Given the description of an element on the screen output the (x, y) to click on. 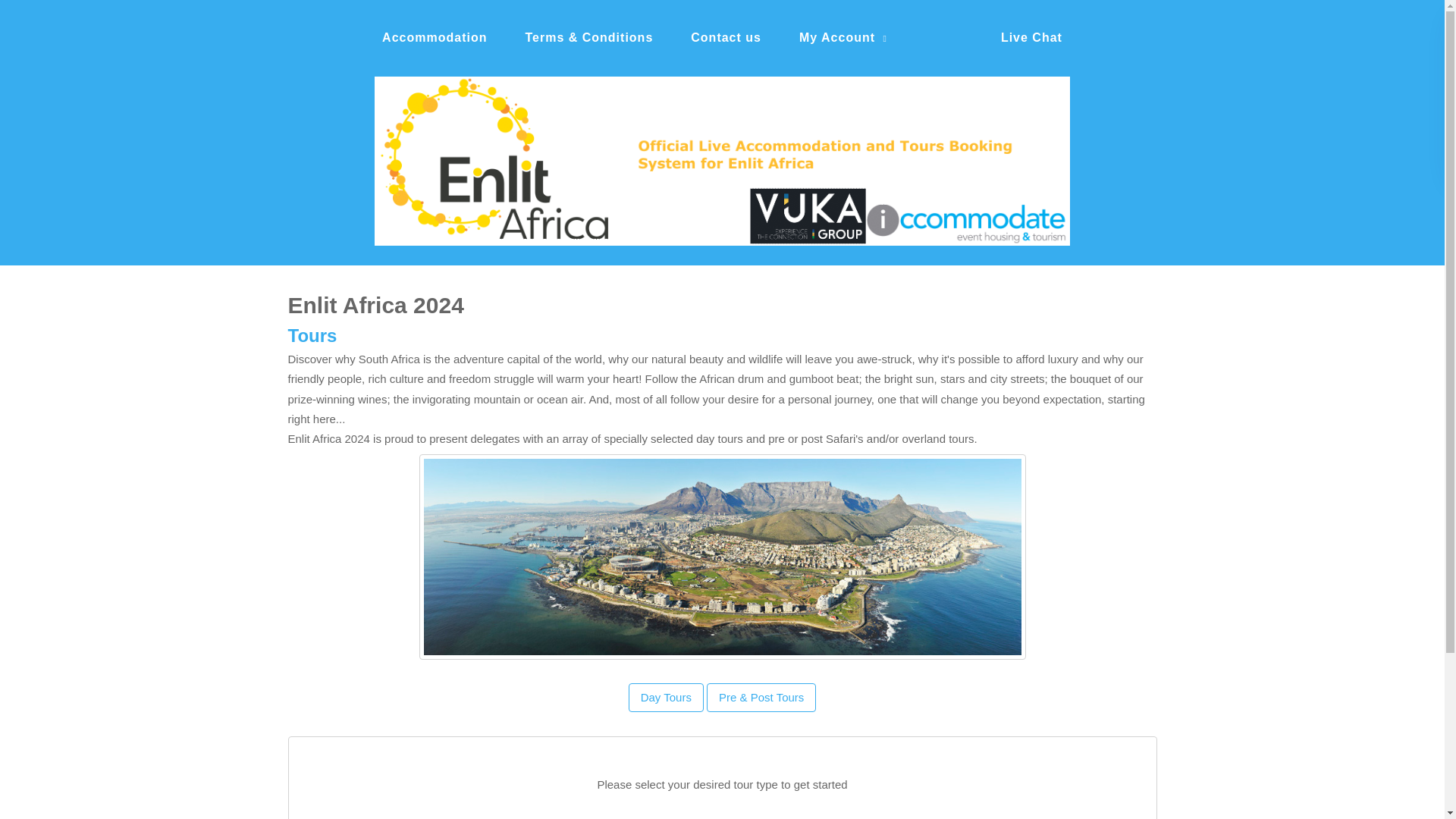
Accommodation (433, 38)
Contact us (725, 38)
Live Chat (1031, 38)
My Account (842, 38)
Day Tours (665, 697)
